Given the description of an element on the screen output the (x, y) to click on. 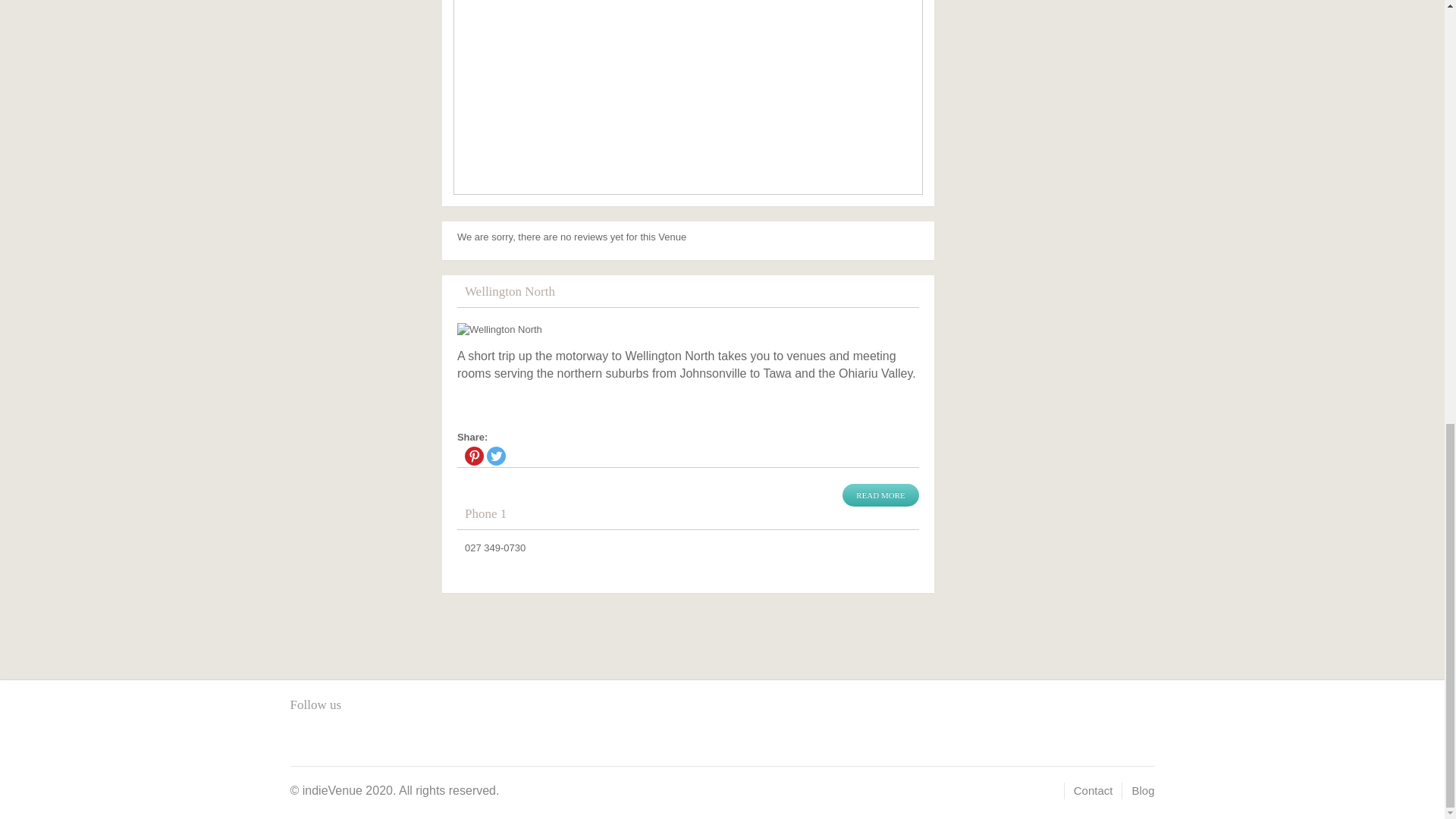
READ MORE (880, 495)
pinterest (326, 739)
Read more (880, 495)
Contact (1093, 789)
Wellington North (687, 329)
facebook (301, 739)
Pinterest (473, 456)
facebook (301, 739)
Twitter (495, 456)
Blog (1142, 789)
pinterest (326, 739)
